Given the description of an element on the screen output the (x, y) to click on. 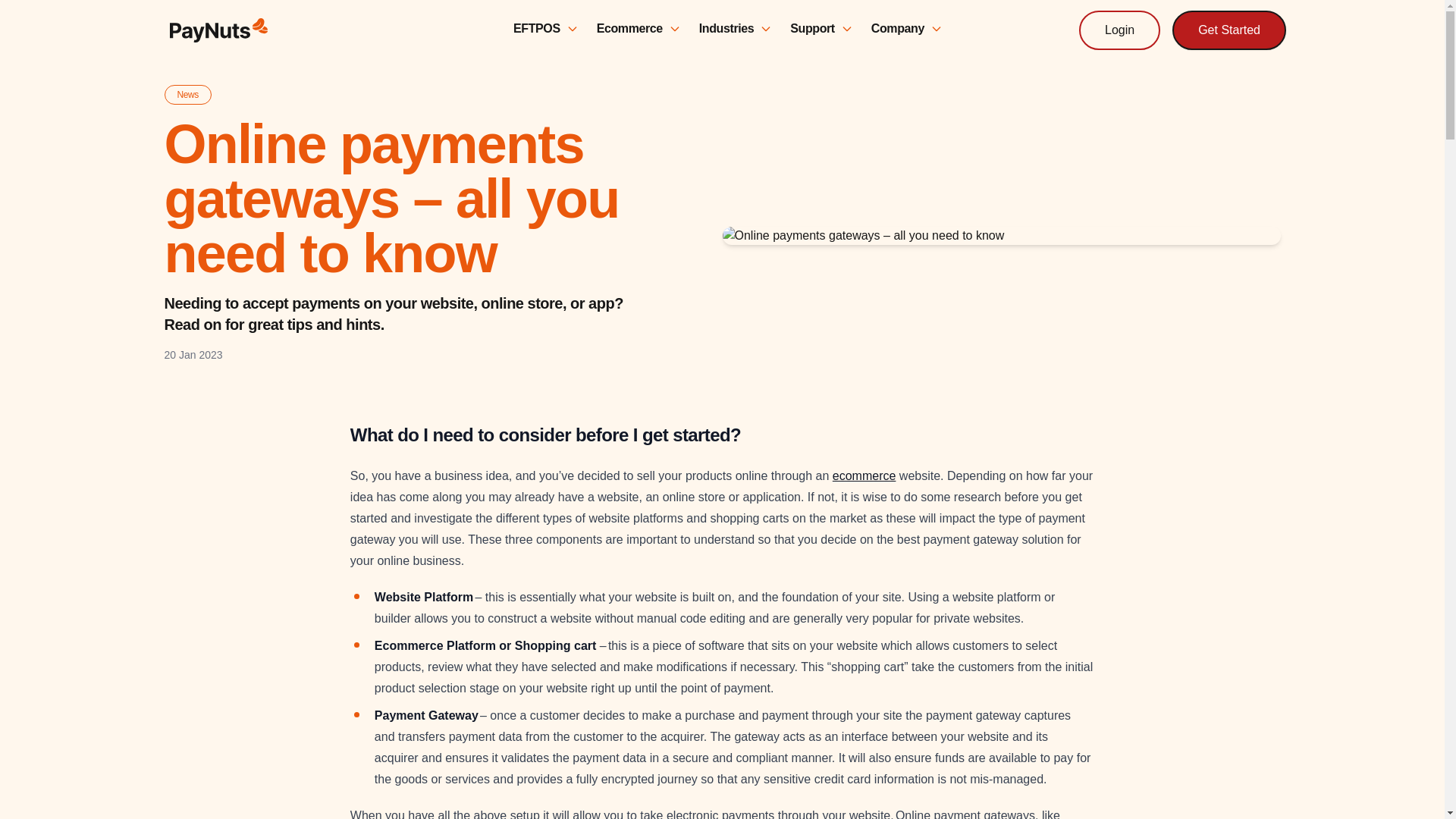
EFTPOS (545, 31)
Ecommerce (638, 31)
